Given the description of an element on the screen output the (x, y) to click on. 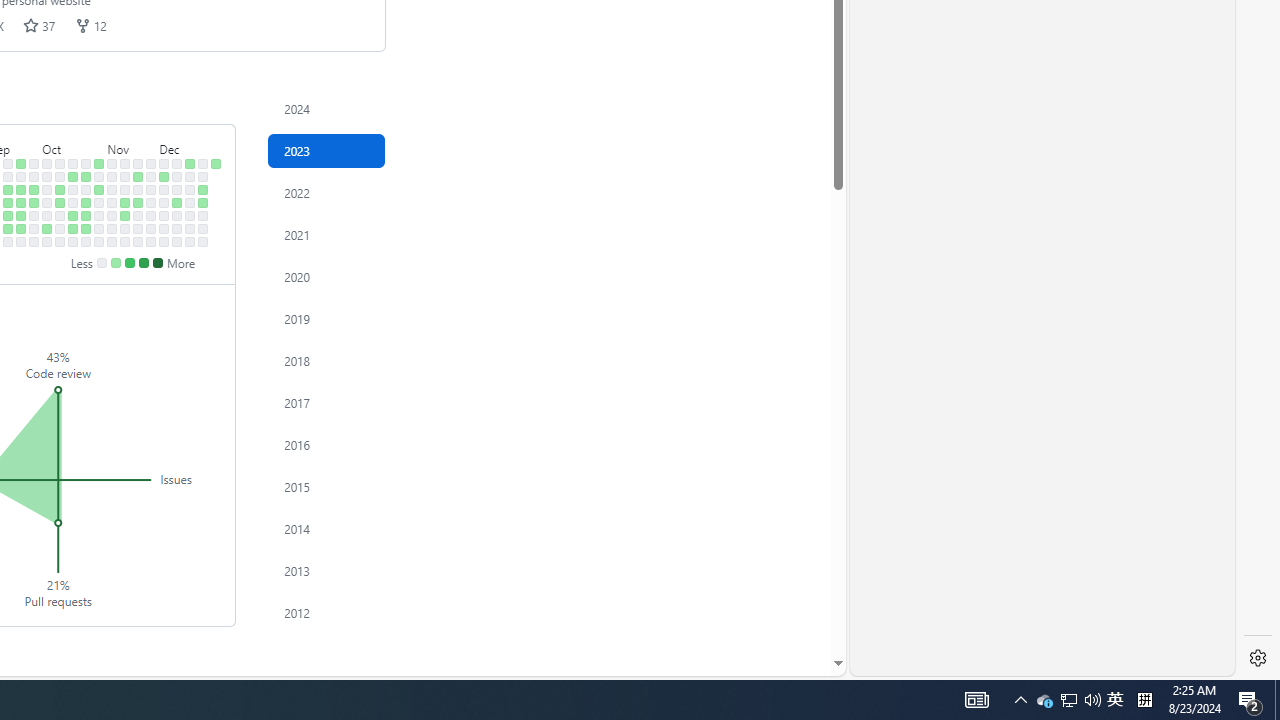
1 contribution on September 27th. (34, 202)
No contributions on September 29th. (34, 228)
No contributions on December 25th. (203, 176)
No contributions on December 7th. (164, 215)
No contributions on November 13th. (125, 176)
Contribution activity in 2021 (326, 233)
No contributions on November 30th. (151, 215)
1 contribution on September 12th. (8, 189)
No contributions on October 28th. (86, 241)
No contributions on October 5th. (47, 215)
2020 (326, 276)
1 contribution on November 20th. (138, 176)
No contributions on December 29th. (203, 228)
No contributions on December 24th. (203, 163)
Contribution activity in 2016 (326, 444)
